Given the description of an element on the screen output the (x, y) to click on. 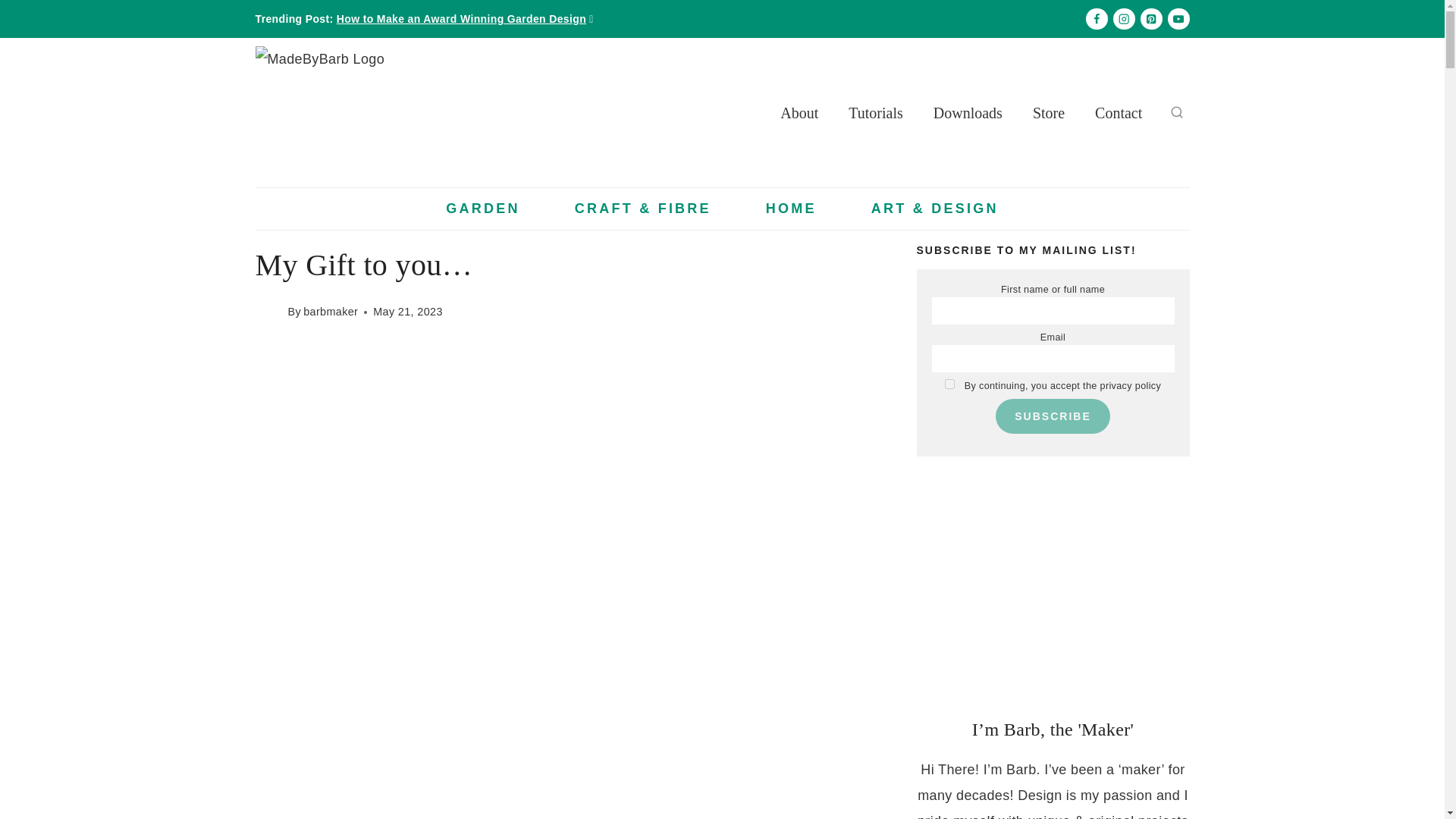
GARDEN (483, 209)
on (949, 384)
barbmaker (330, 311)
HOME (791, 209)
How to Make an Award Winning Garden Design (461, 19)
Subscribe (1052, 416)
